Given the description of an element on the screen output the (x, y) to click on. 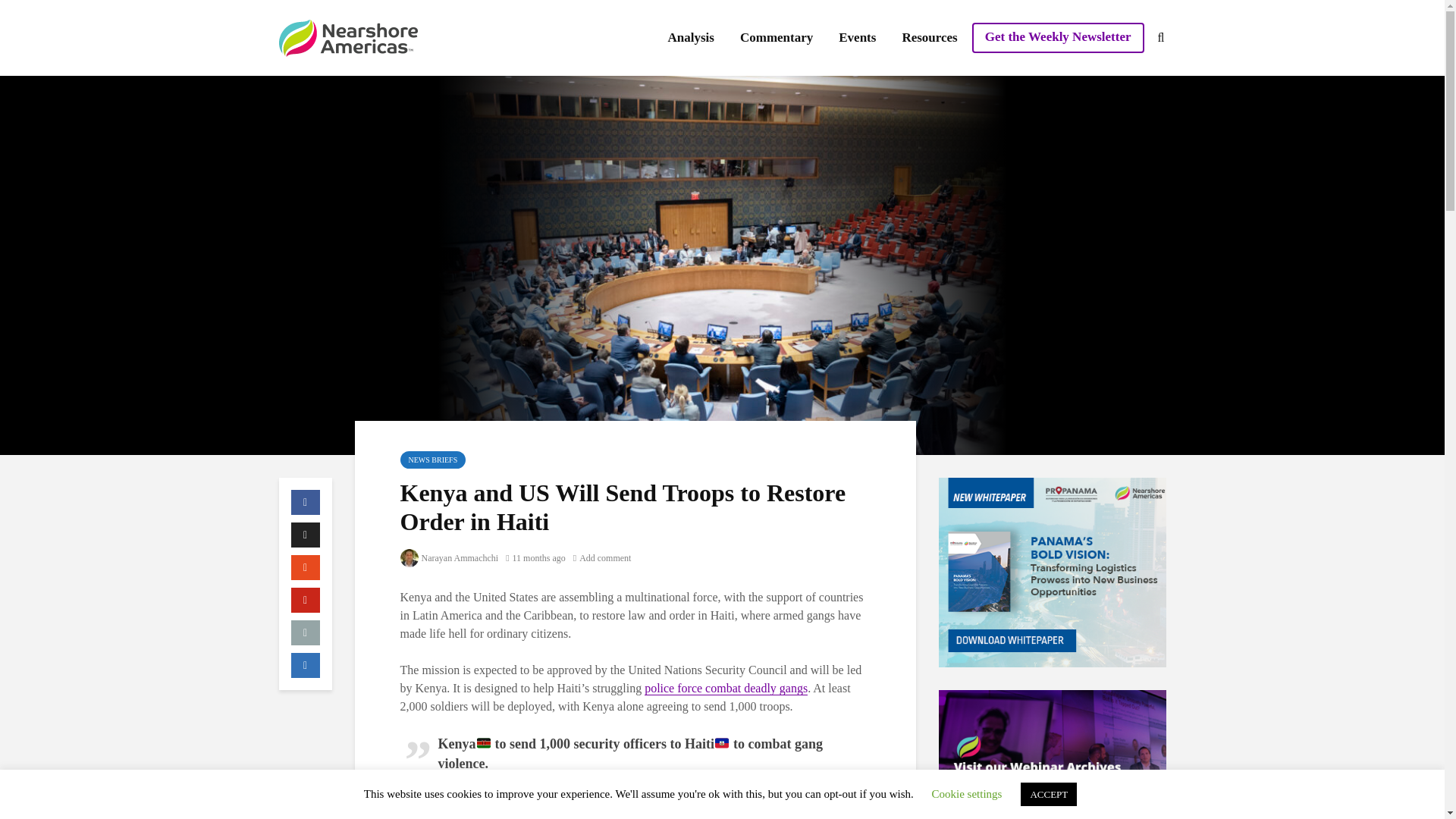
Add comment (602, 557)
Narayan Ammachchi (449, 557)
Resources (928, 37)
Events (856, 37)
Analysis (690, 37)
NEWS BRIEFS (432, 459)
police force combat deadly gangs (726, 688)
Get the Weekly Newsletter (1058, 37)
Commentary (776, 37)
